Given the description of an element on the screen output the (x, y) to click on. 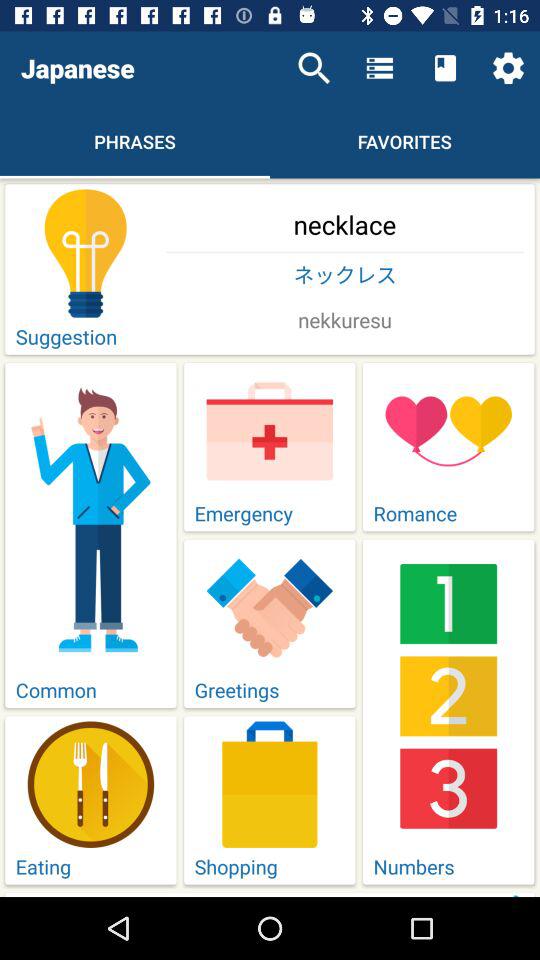
open icon next to japanese icon (313, 67)
